Given the description of an element on the screen output the (x, y) to click on. 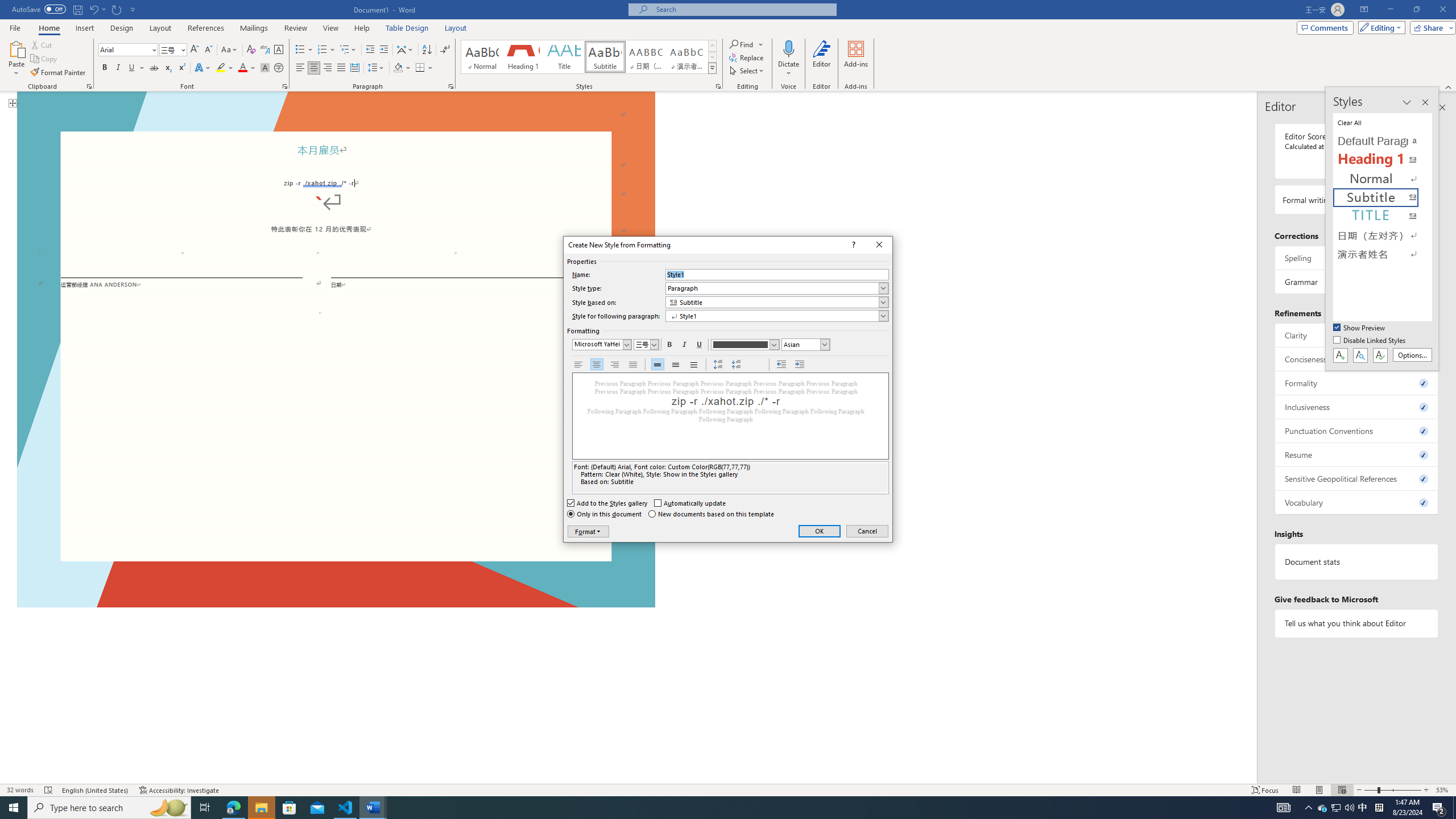
Decrease Paragraph Spacing (737, 364)
Clear All (1382, 122)
Repeat Doc Close (117, 9)
